Given the description of an element on the screen output the (x, y) to click on. 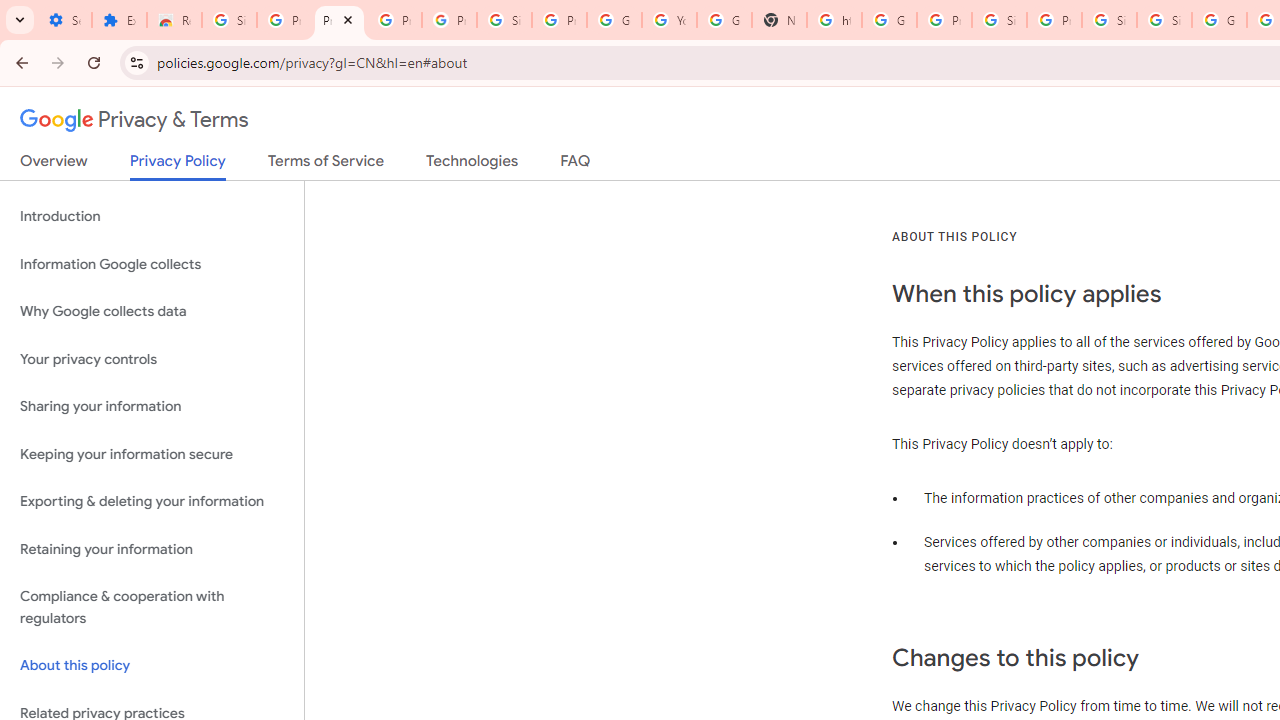
YouTube (669, 20)
Sign in - Google Accounts (1108, 20)
https://scholar.google.com/ (833, 20)
About this policy (152, 666)
Settings - On startup (64, 20)
